Given the description of an element on the screen output the (x, y) to click on. 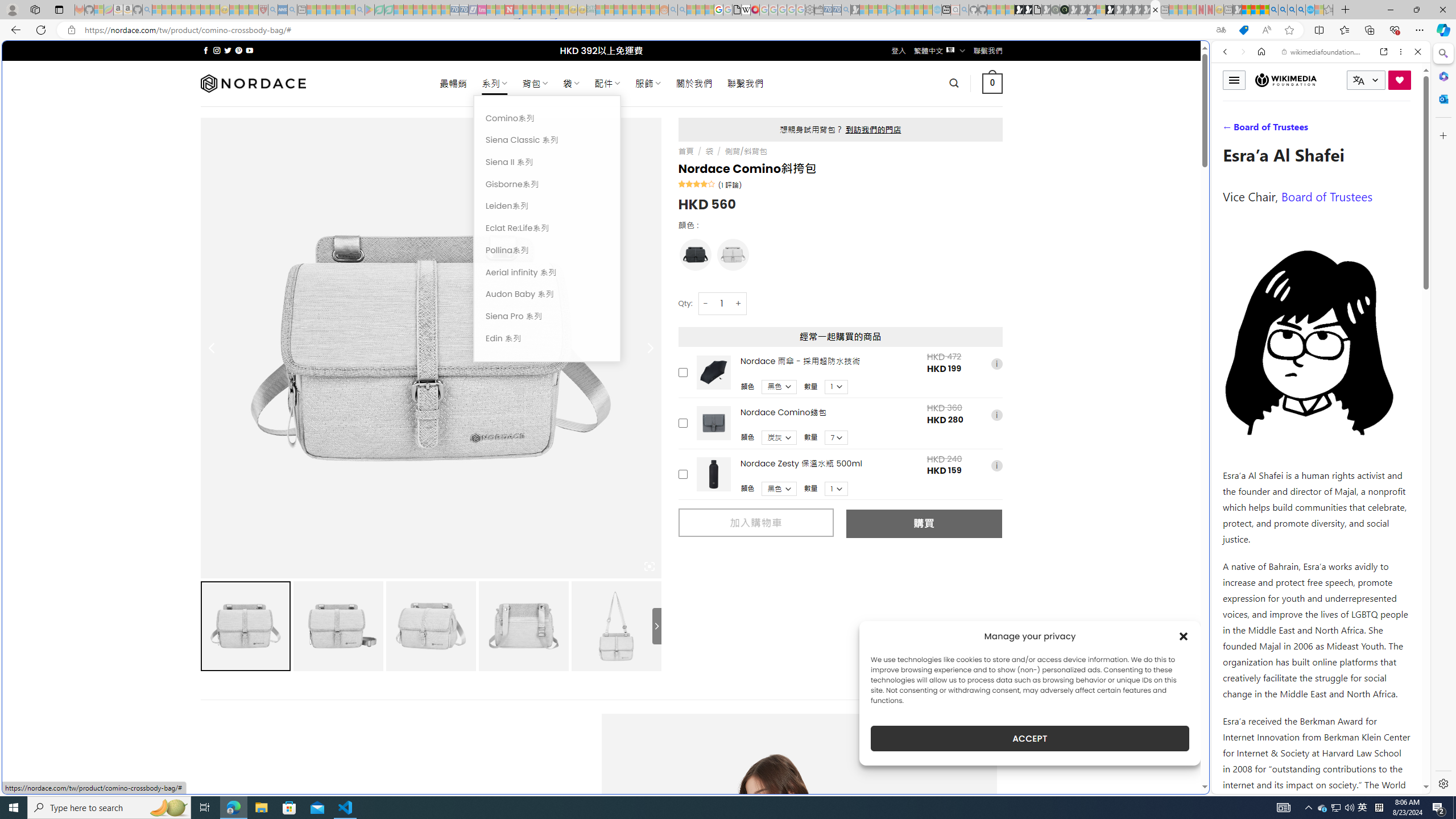
ACCEPT (1029, 738)
Favorites - Sleeping (1328, 9)
Board of Trustees (1326, 195)
Wikimedia Foundation (1286, 79)
